Given the description of an element on the screen output the (x, y) to click on. 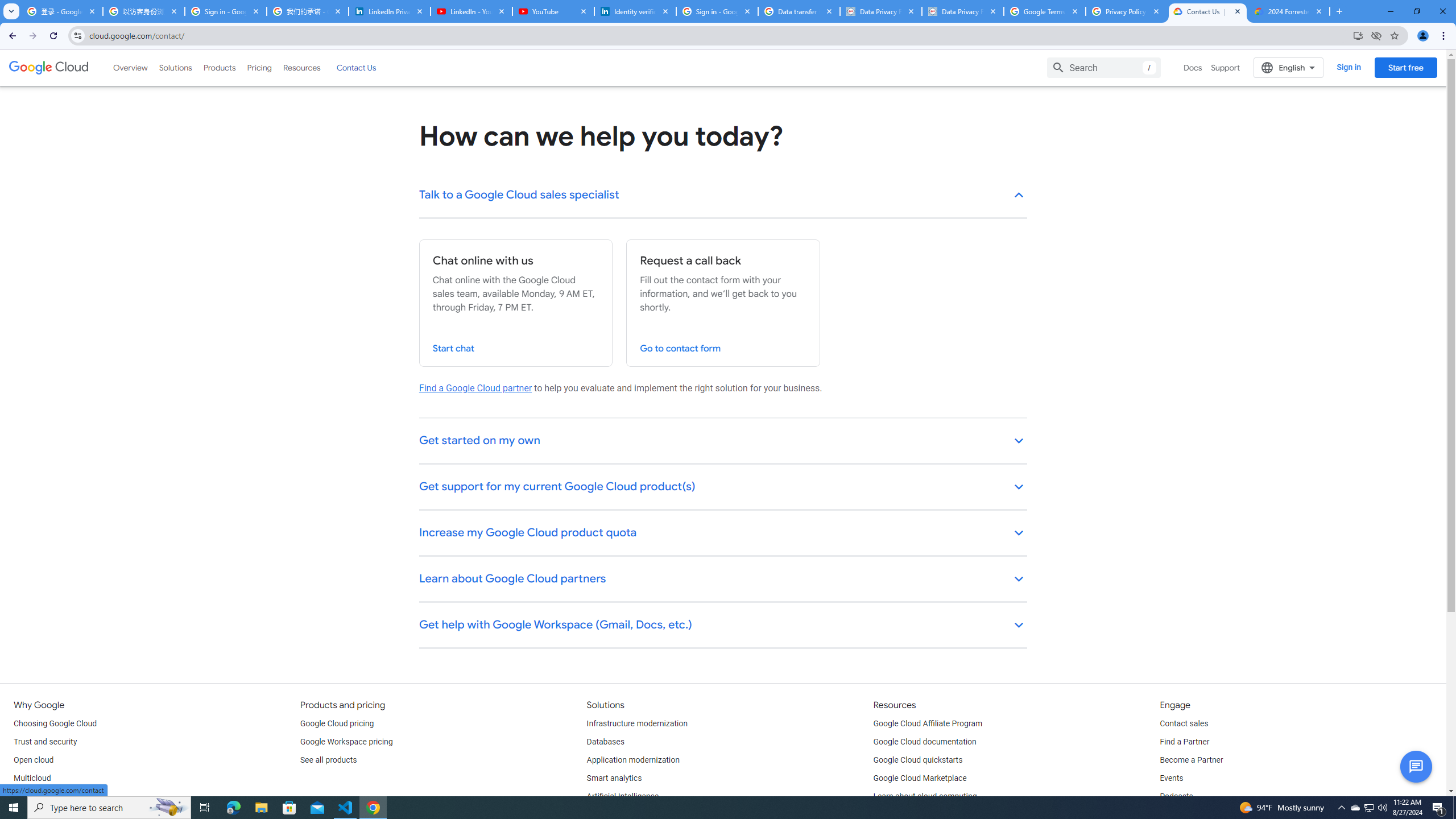
Products (218, 67)
Become a Partner (1190, 760)
